Given the description of an element on the screen output the (x, y) to click on. 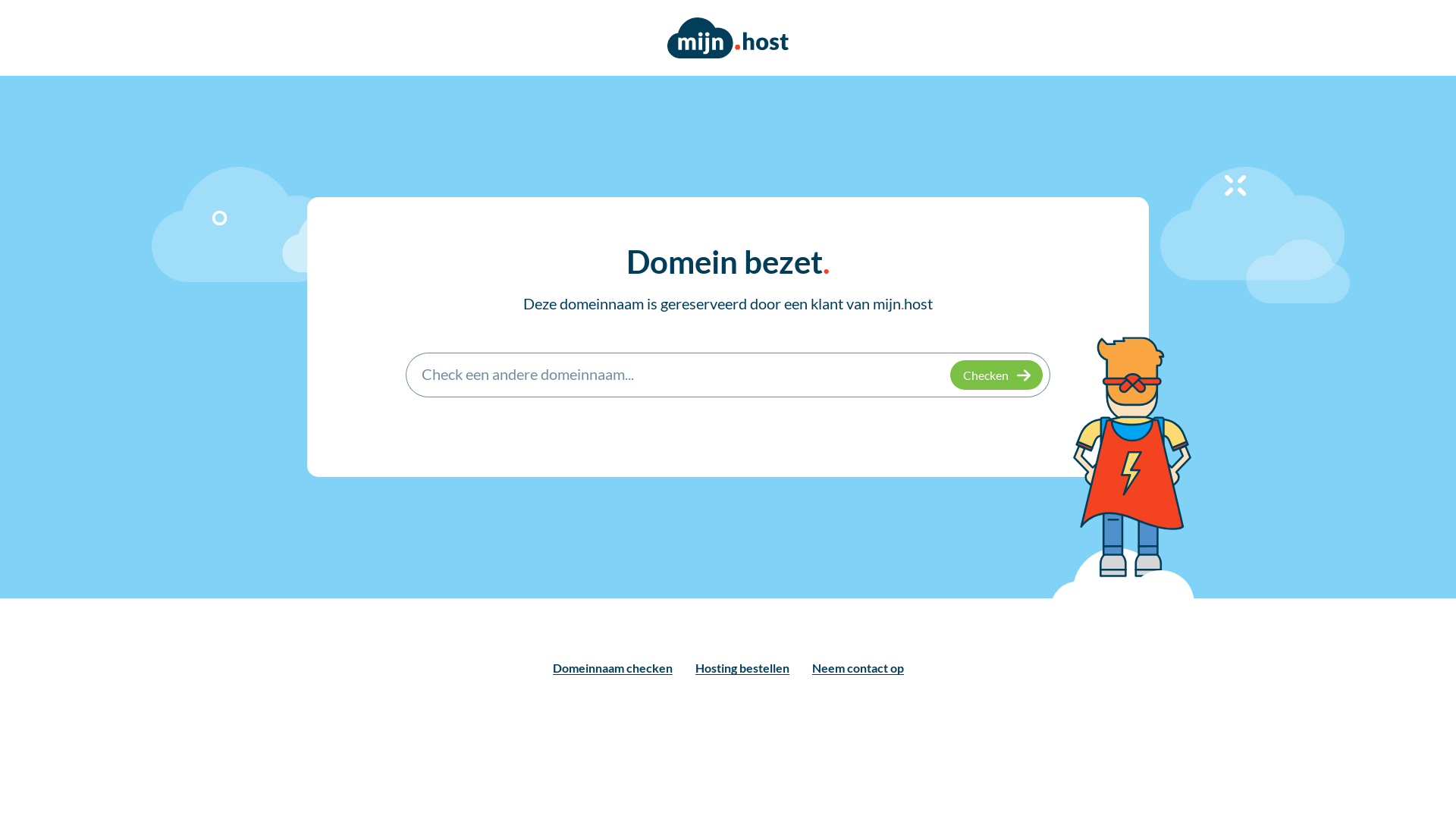
Domeinnaam checken Element type: text (611, 667)
Neem contact op Element type: text (857, 667)
Hosting bestellen Element type: text (741, 667)
Checken Element type: text (996, 374)
